Given the description of an element on the screen output the (x, y) to click on. 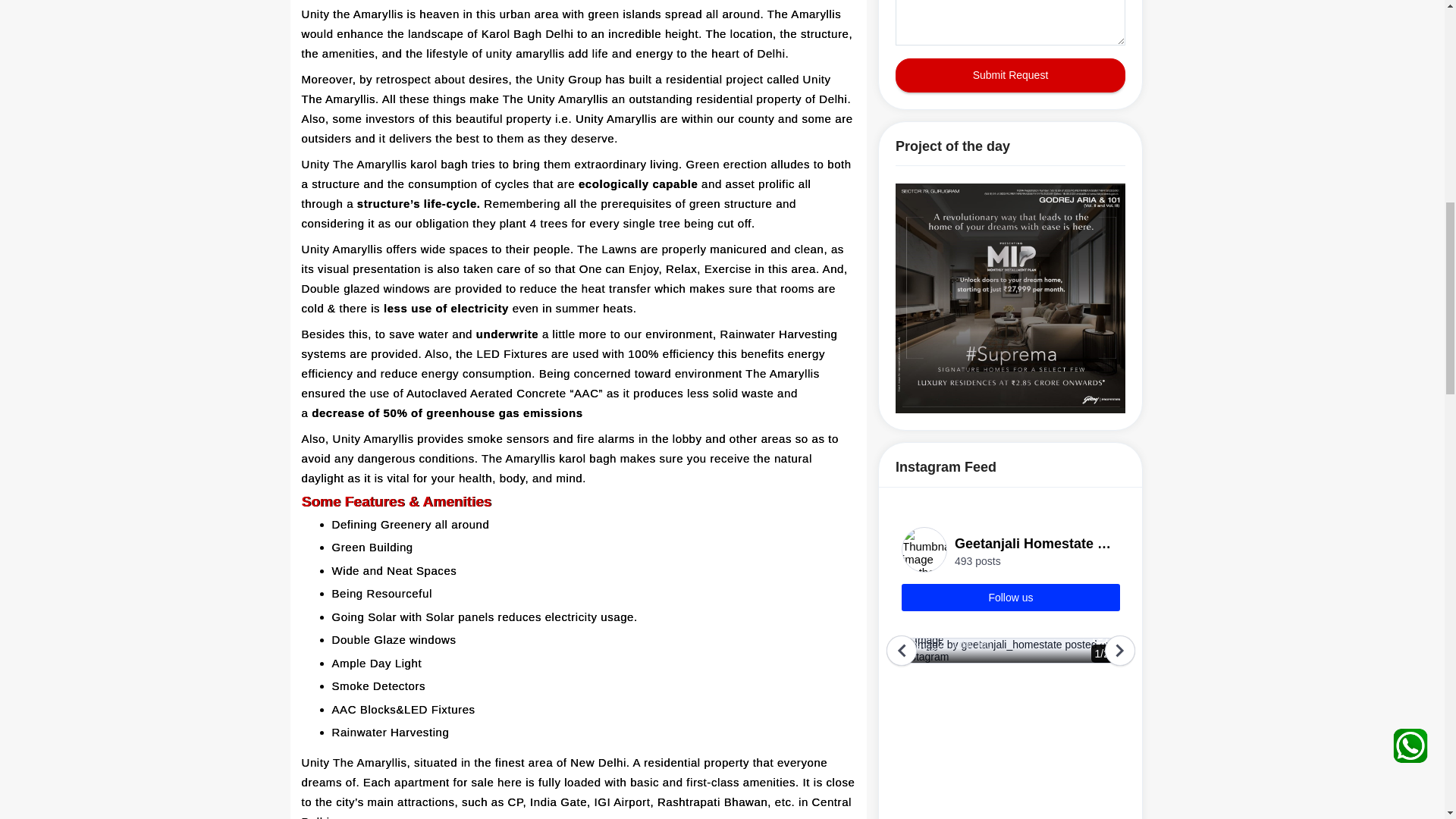
Submit Request (1010, 75)
